Given the description of an element on the screen output the (x, y) to click on. 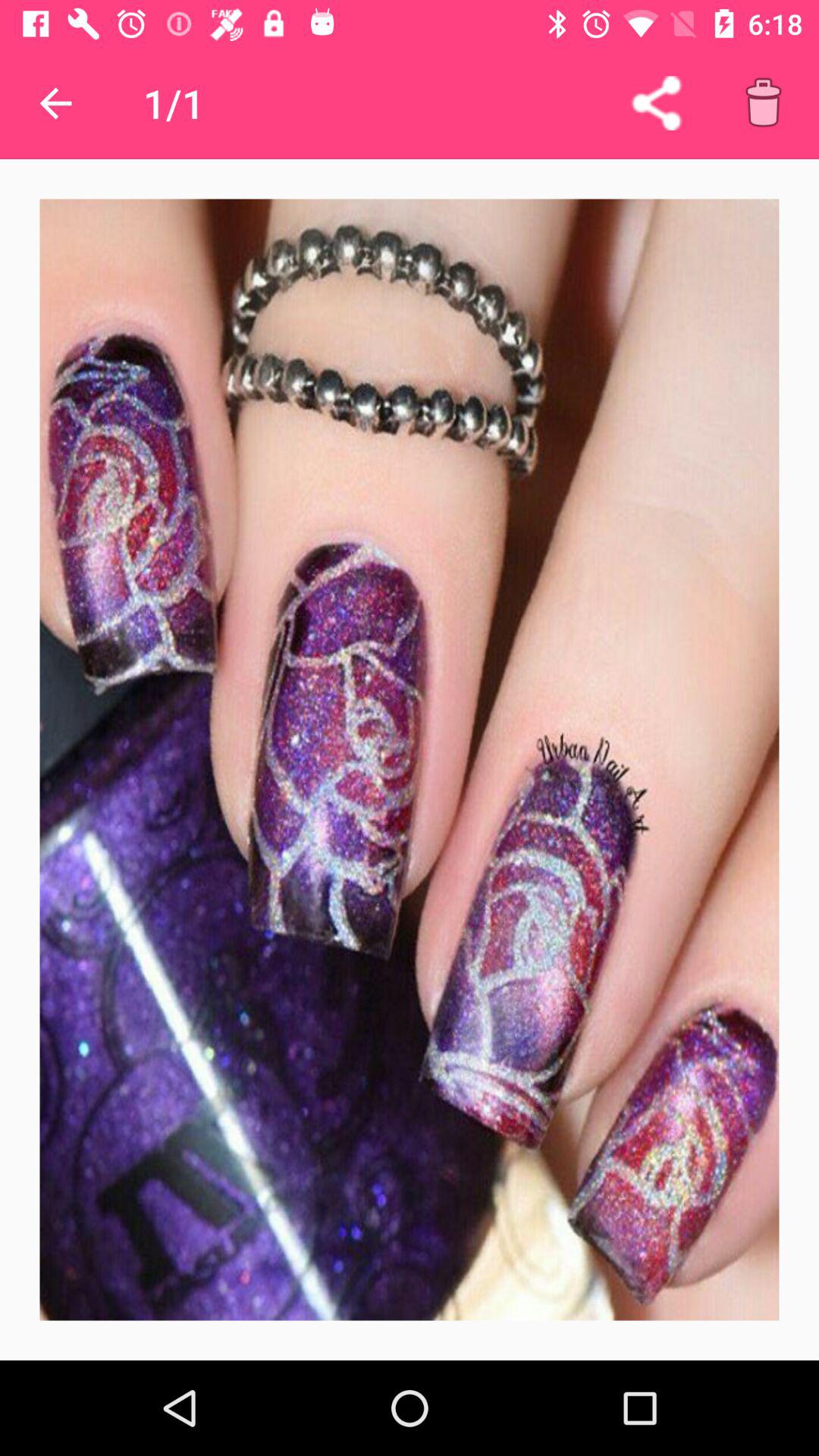
the trash bin (763, 103)
